Given the description of an element on the screen output the (x, y) to click on. 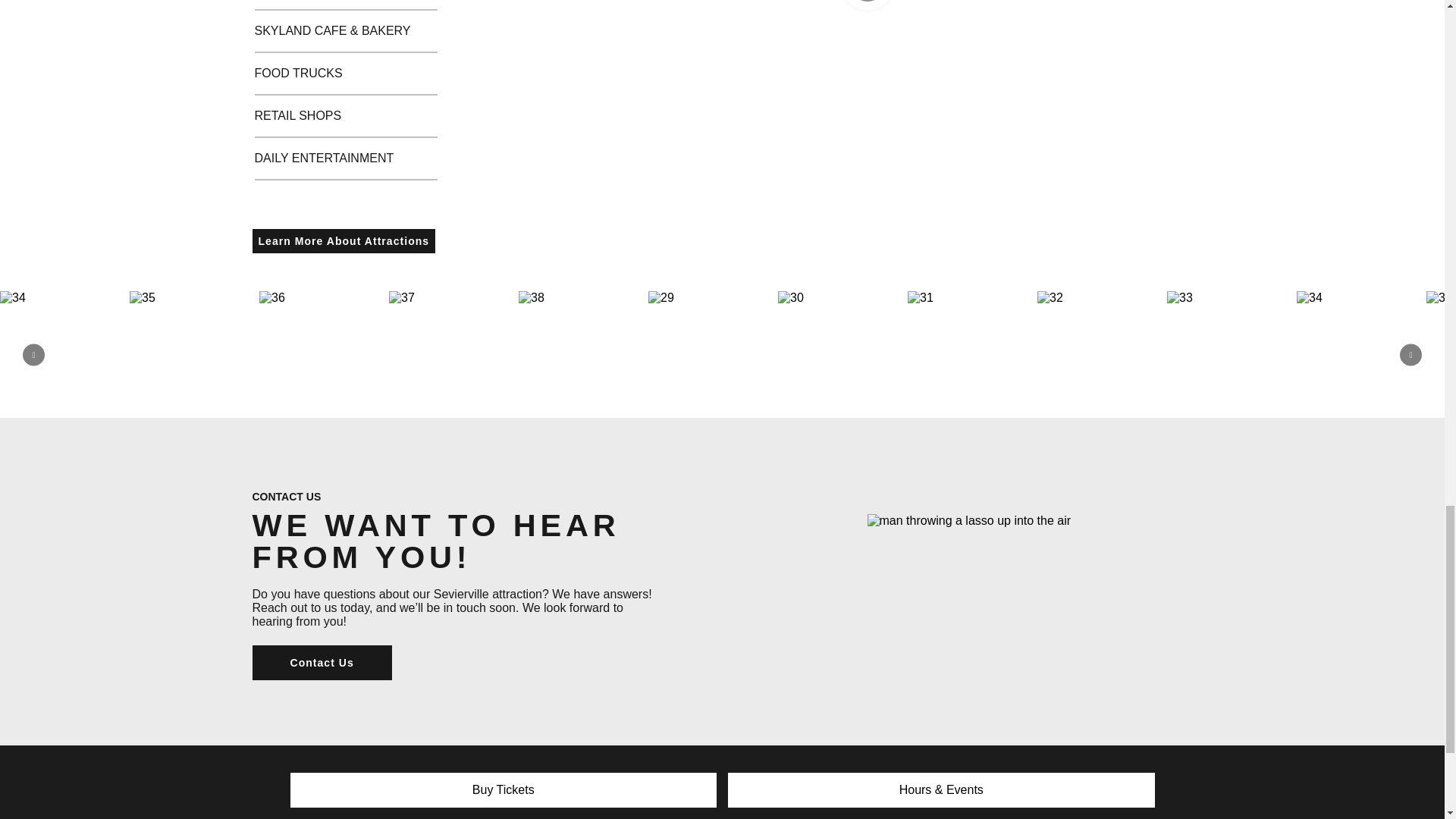
Learn More About Attractions (343, 241)
ABOUT (334, 812)
Contact Us (321, 662)
